Given the description of an element on the screen output the (x, y) to click on. 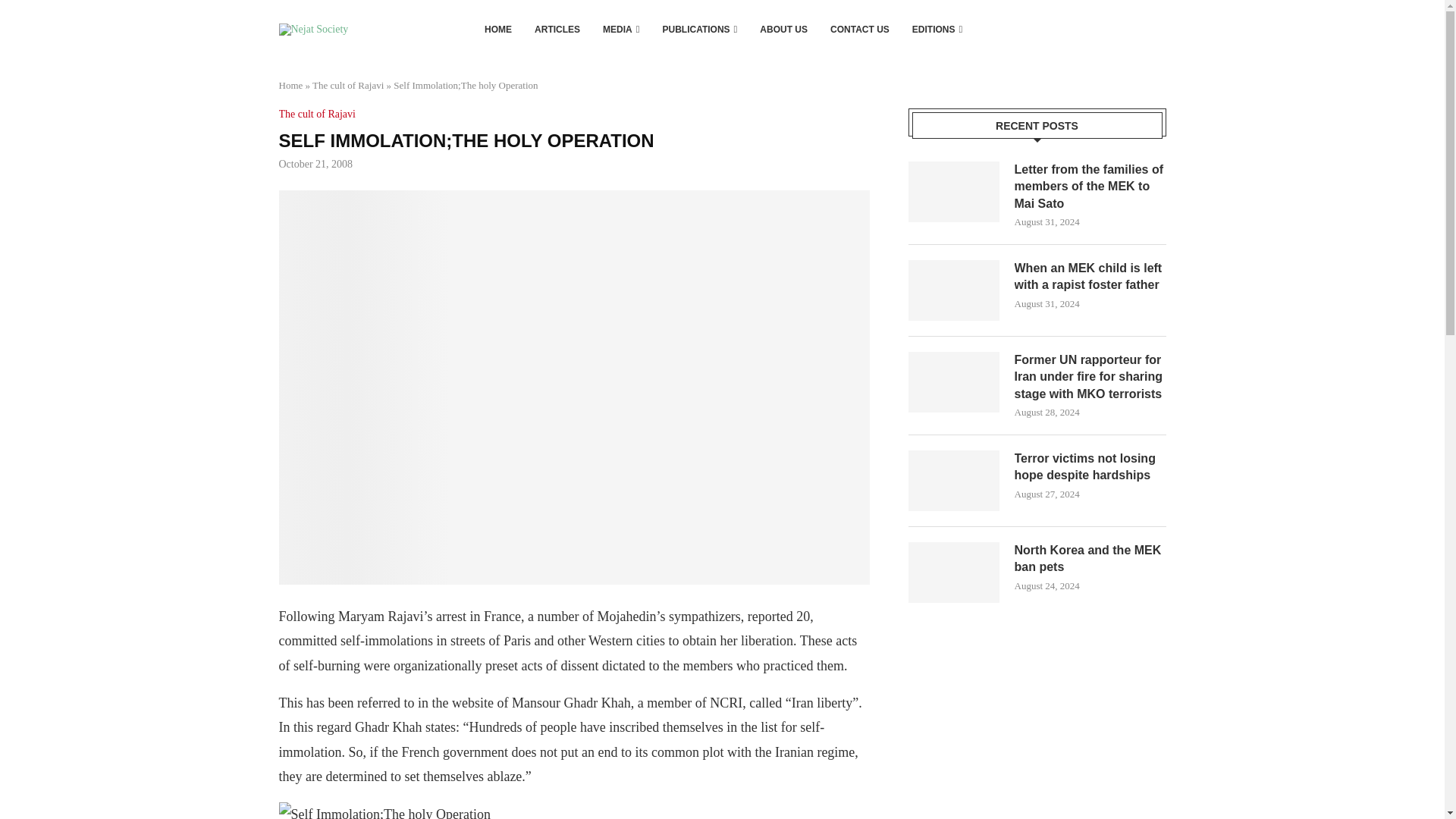
CONTACT US (859, 29)
ABOUT US (784, 29)
ARTICLES (556, 29)
When an MEK child is left with a rapist foster father (1090, 277)
Letter from the families of members of the MEK to Mai Sato (953, 191)
EDITIONS (937, 29)
Letter from the families of members of the MEK to Mai Sato (1090, 186)
When an MEK child is left with a rapist foster father (953, 290)
PUBLICATIONS (700, 29)
